Given the description of an element on the screen output the (x, y) to click on. 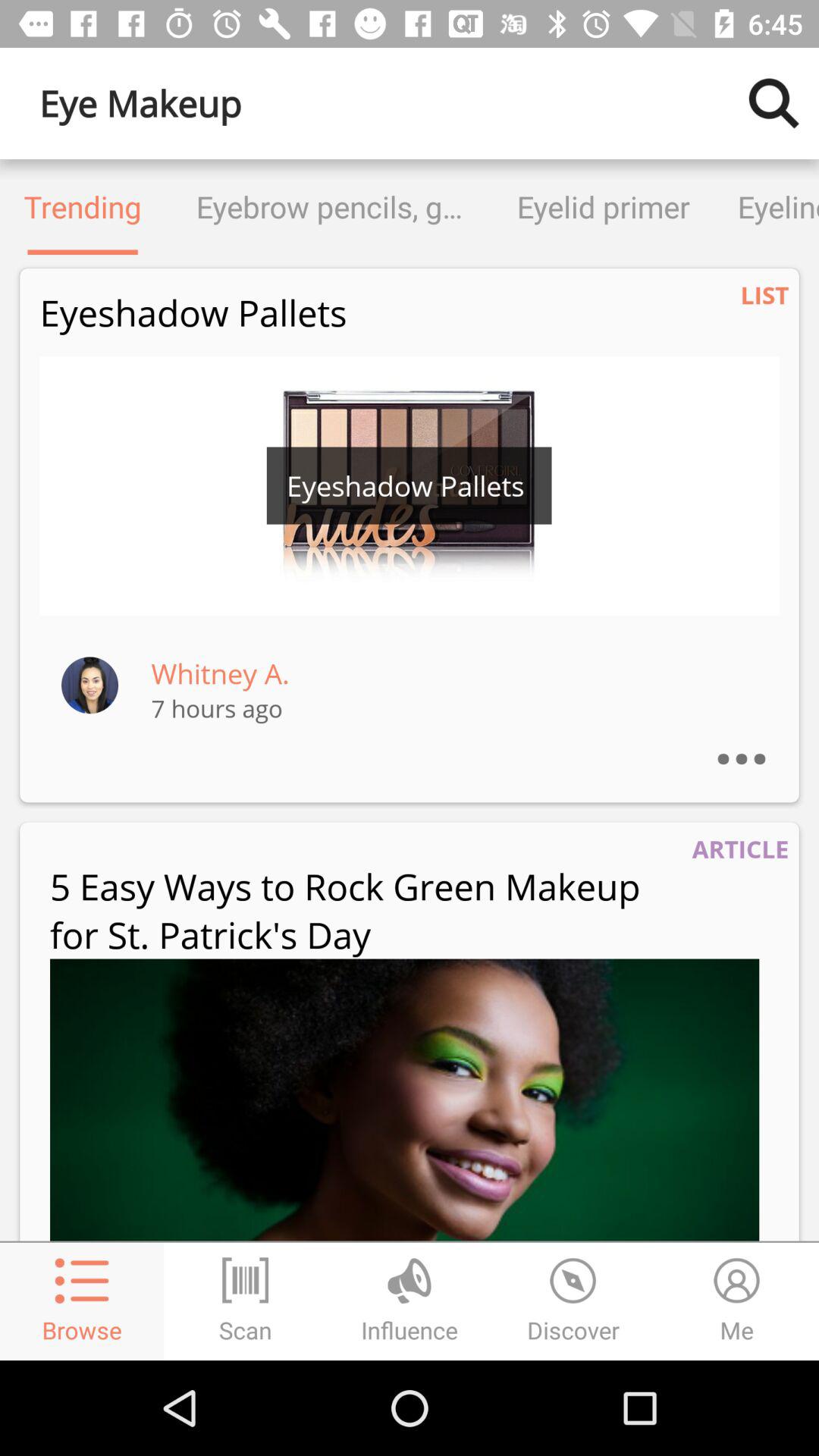
search for other makeup (773, 103)
